Given the description of an element on the screen output the (x, y) to click on. 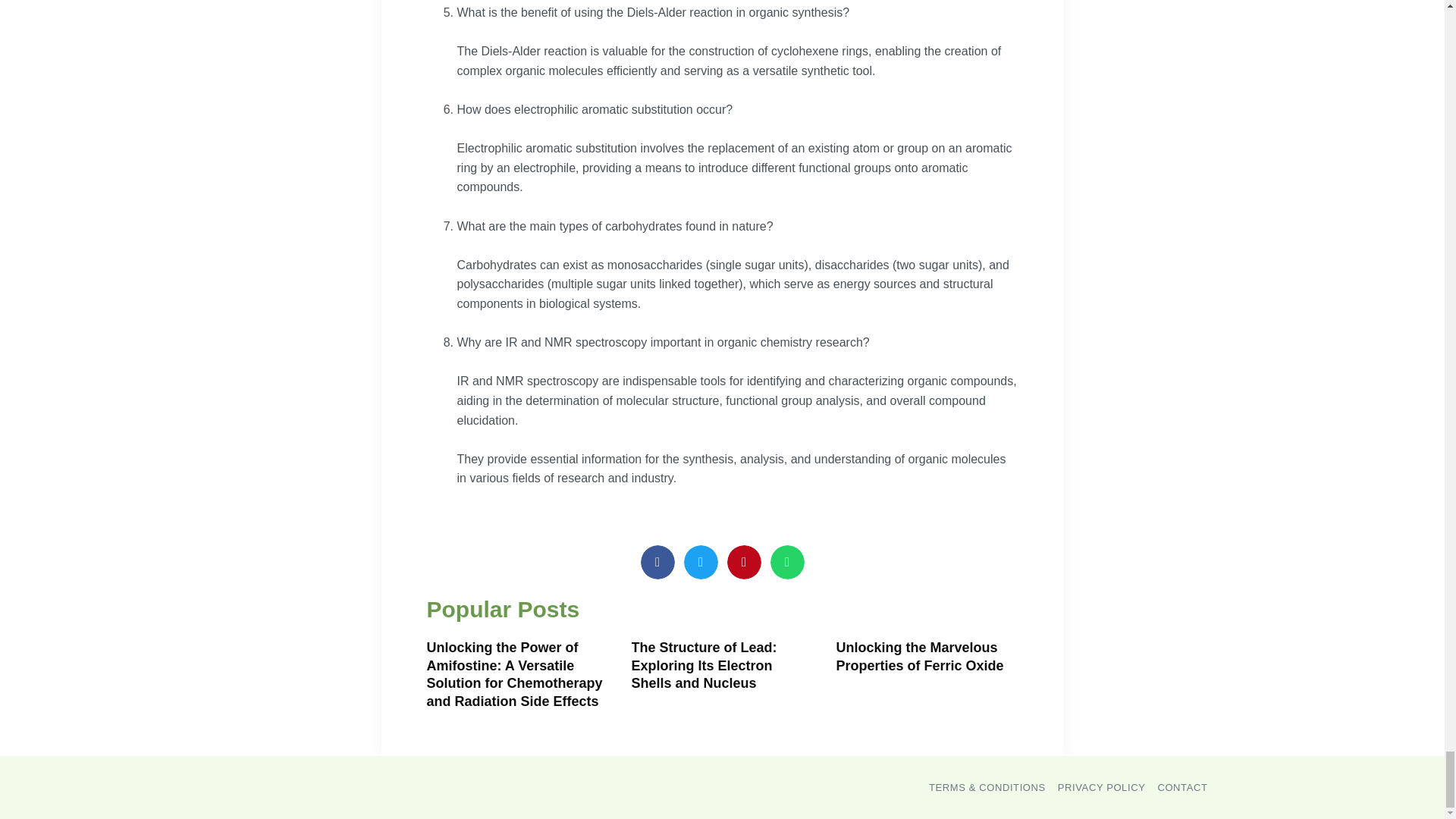
PRIVACY POLICY (1101, 787)
CONTACT (1182, 787)
Unlocking the Marvelous Properties of Ferric Oxide (919, 655)
